Given the description of an element on the screen output the (x, y) to click on. 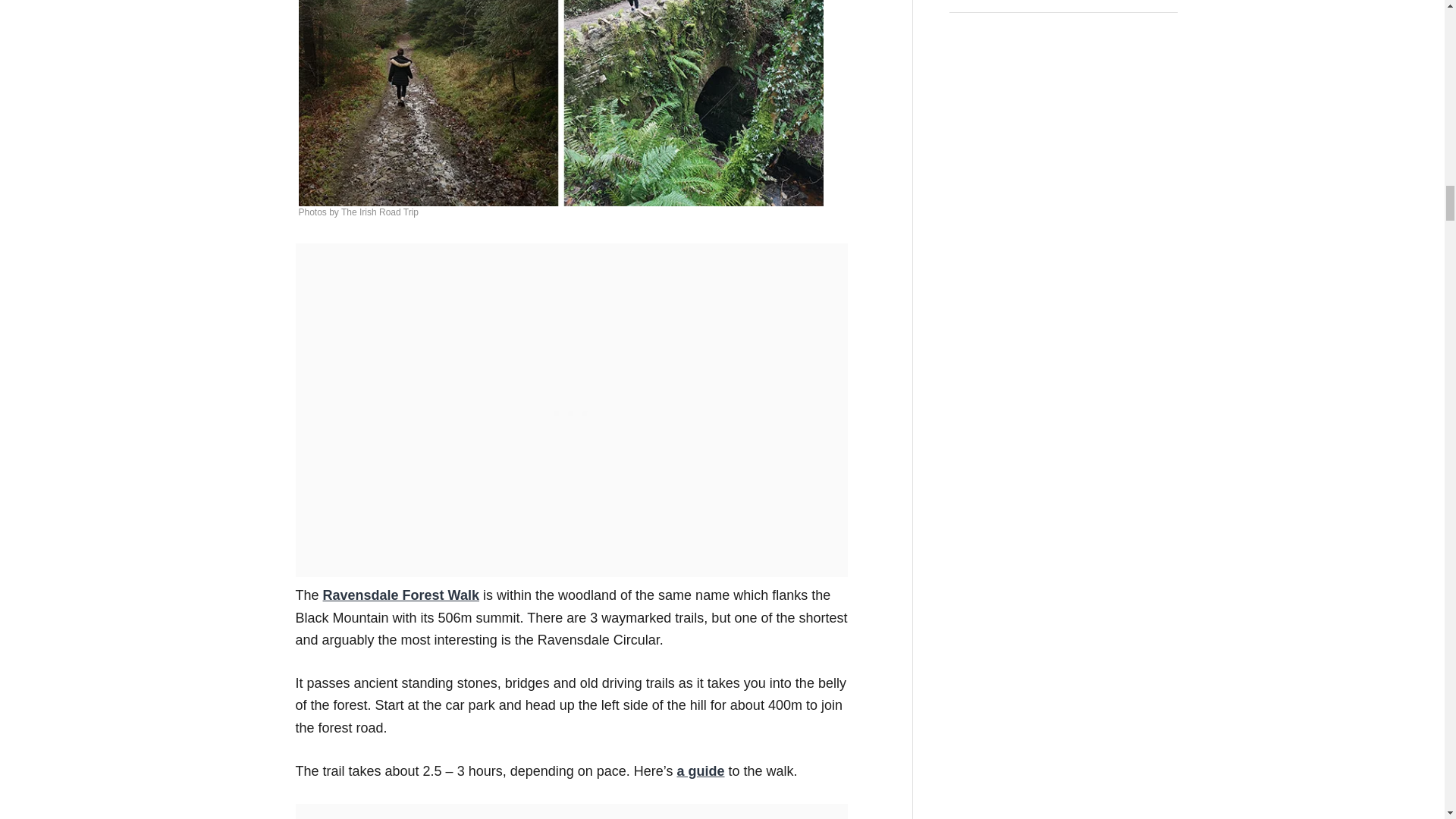
a guide (700, 770)
Ravensdale Forest Walk (401, 595)
